Given the description of an element on the screen output the (x, y) to click on. 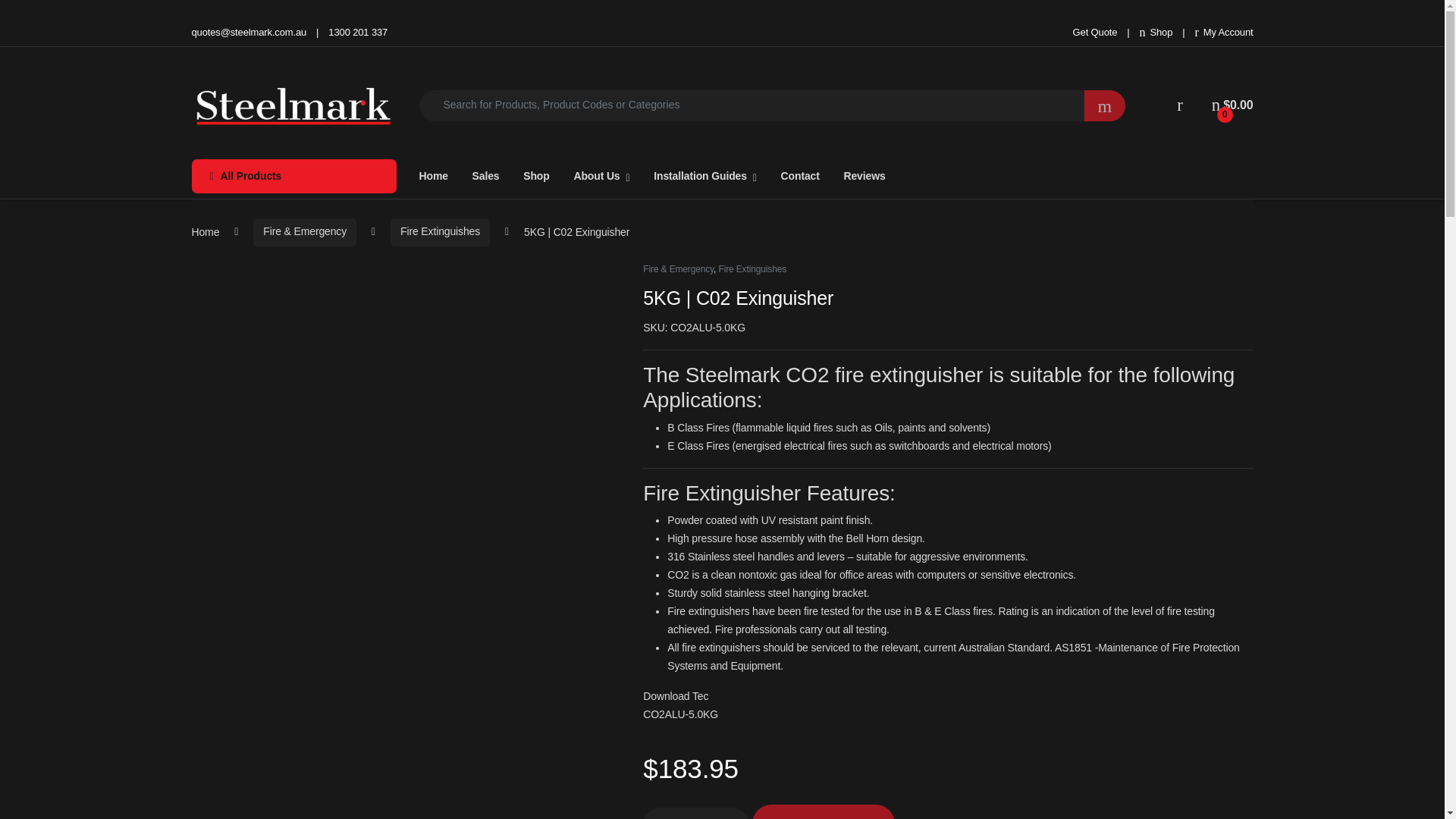
Get Quote (1095, 31)
My Account (1224, 31)
Get Quote (1095, 31)
Shop (1156, 31)
My Account (1224, 31)
Shop (1156, 31)
1 (696, 813)
1300 201 337 (358, 31)
1300 201 337 (358, 31)
